Given the description of an element on the screen output the (x, y) to click on. 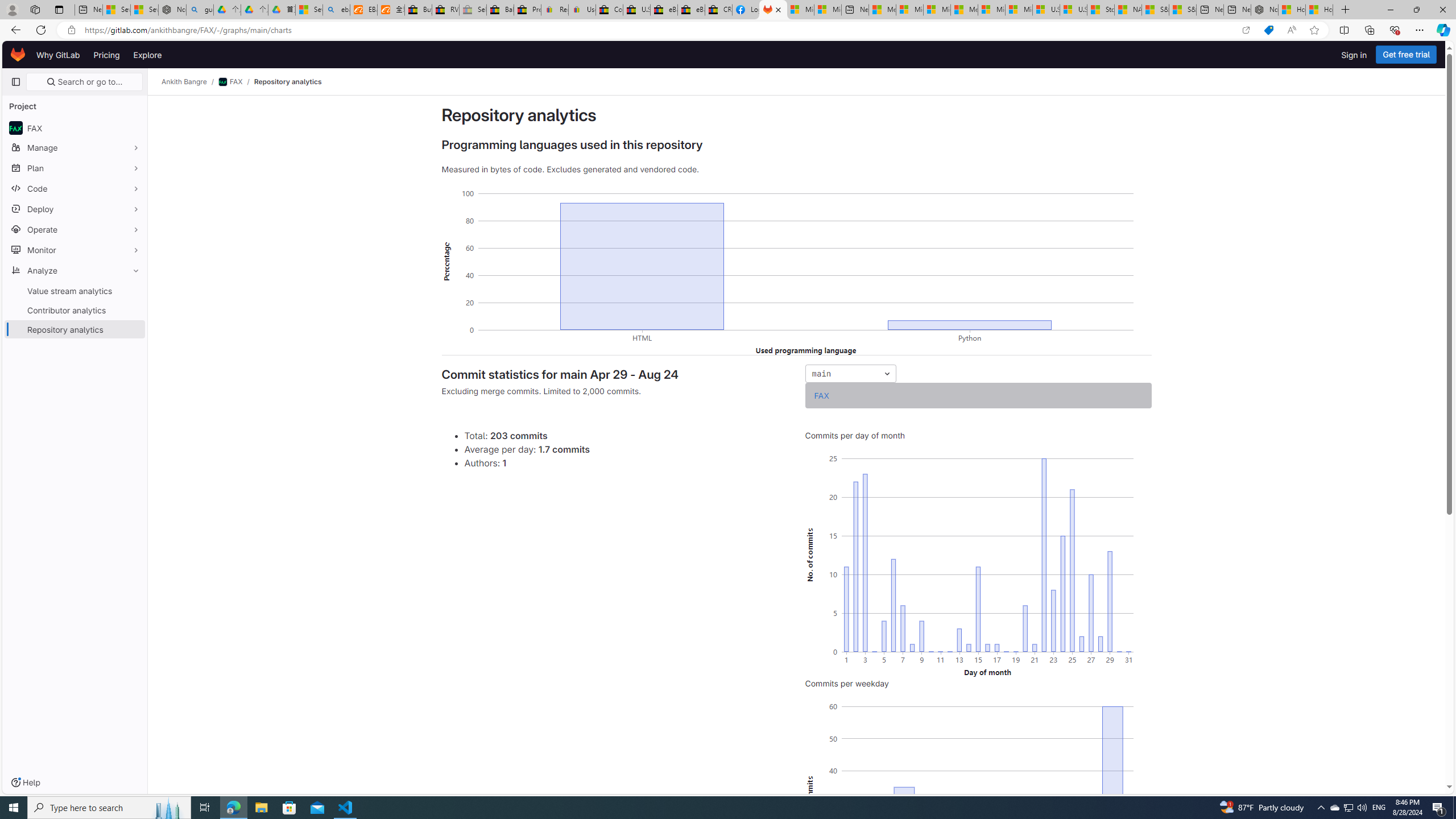
Authors: 1 (625, 462)
Sell worldwide with eBay - Sleeping (473, 9)
avatar (15, 128)
User Privacy Notice | eBay (581, 9)
Contributor analytics (74, 309)
